Given the description of an element on the screen output the (x, y) to click on. 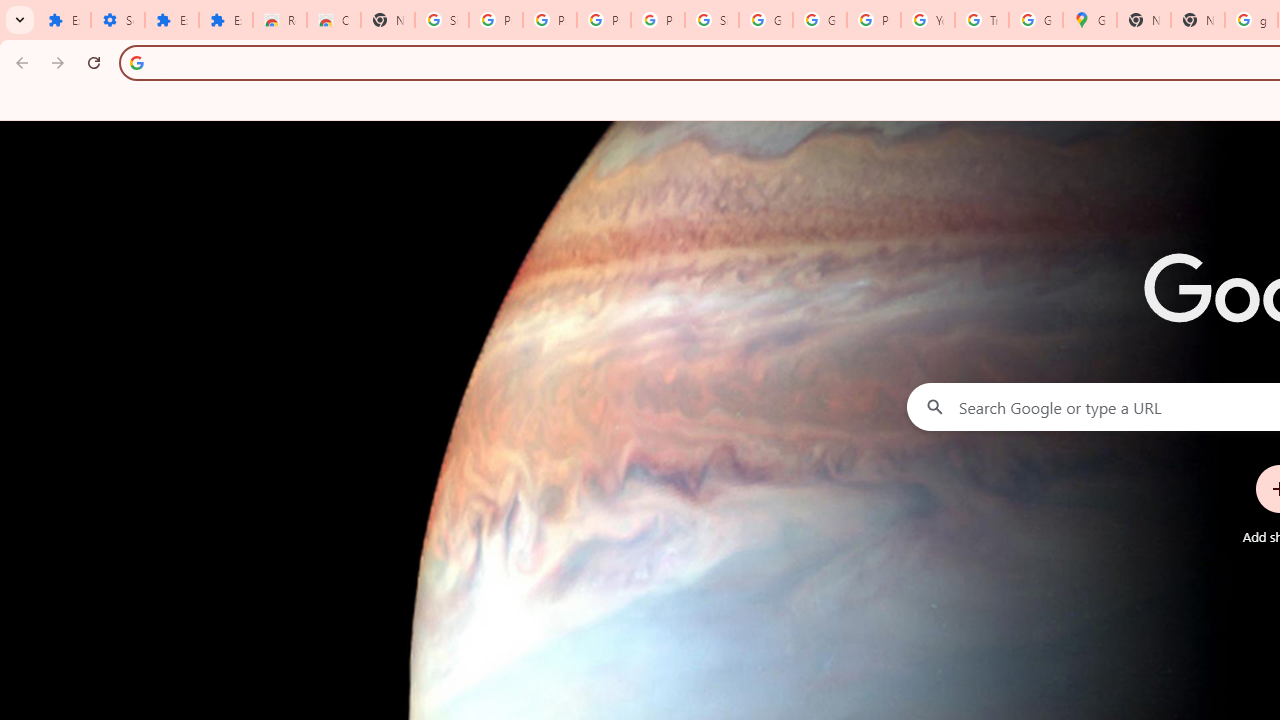
Settings (117, 20)
YouTube (927, 20)
Extensions (63, 20)
Extensions (171, 20)
Extensions (225, 20)
Sign in - Google Accounts (441, 20)
New Tab (387, 20)
